Given the description of an element on the screen output the (x, y) to click on. 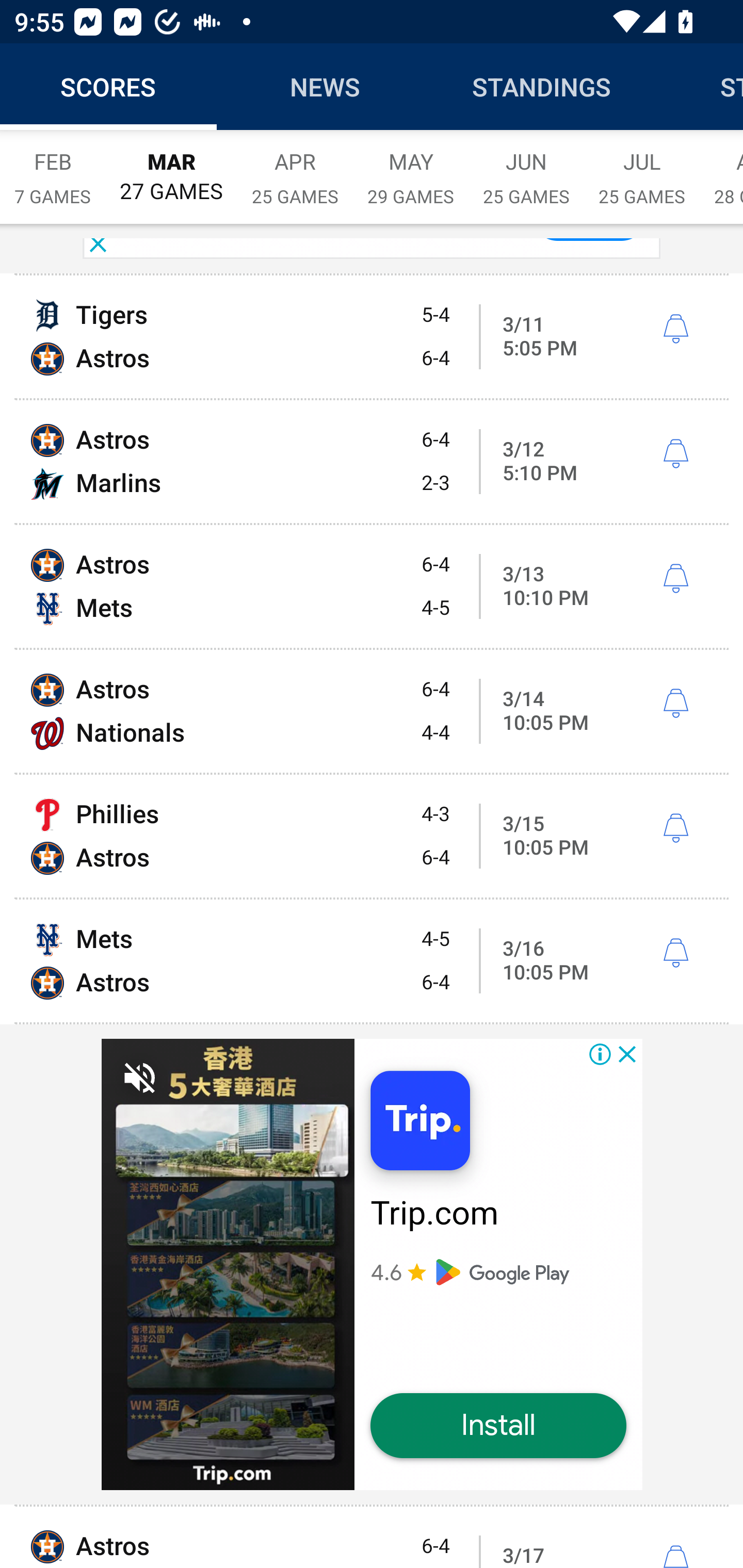
News NEWS (324, 86)
Standings STANDINGS (541, 86)
FEB 7 GAMES (52, 167)
MAR 27 GAMES (171, 167)
APR 25 GAMES (294, 167)
MAY 29 GAMES (410, 167)
JUN 25 GAMES (525, 167)
JUL 25 GAMES (641, 167)
Tigers 5-4 Astros 6-4 3/11 5:05 PM í (371, 336)
í (675, 328)
Astros 6-4 Marlins 2-3 3/12 5:10 PM í (371, 461)
í (675, 453)
Astros 6-4 Mets 4-5 3/13 10:10 PM í (371, 586)
í (675, 578)
Astros 6-4 Nationals 4-4 3/14 10:05 PM í (371, 711)
í (675, 702)
Phillies 4-3 Astros 6-4 3/15 10:05 PM í (371, 835)
í (675, 828)
Mets 4-5 Astros 6-4 3/16 10:05 PM í (371, 961)
í (675, 953)
Install (498, 1425)
Astros 6-4 3/17 í (371, 1537)
í (675, 1556)
